Given the description of an element on the screen output the (x, y) to click on. 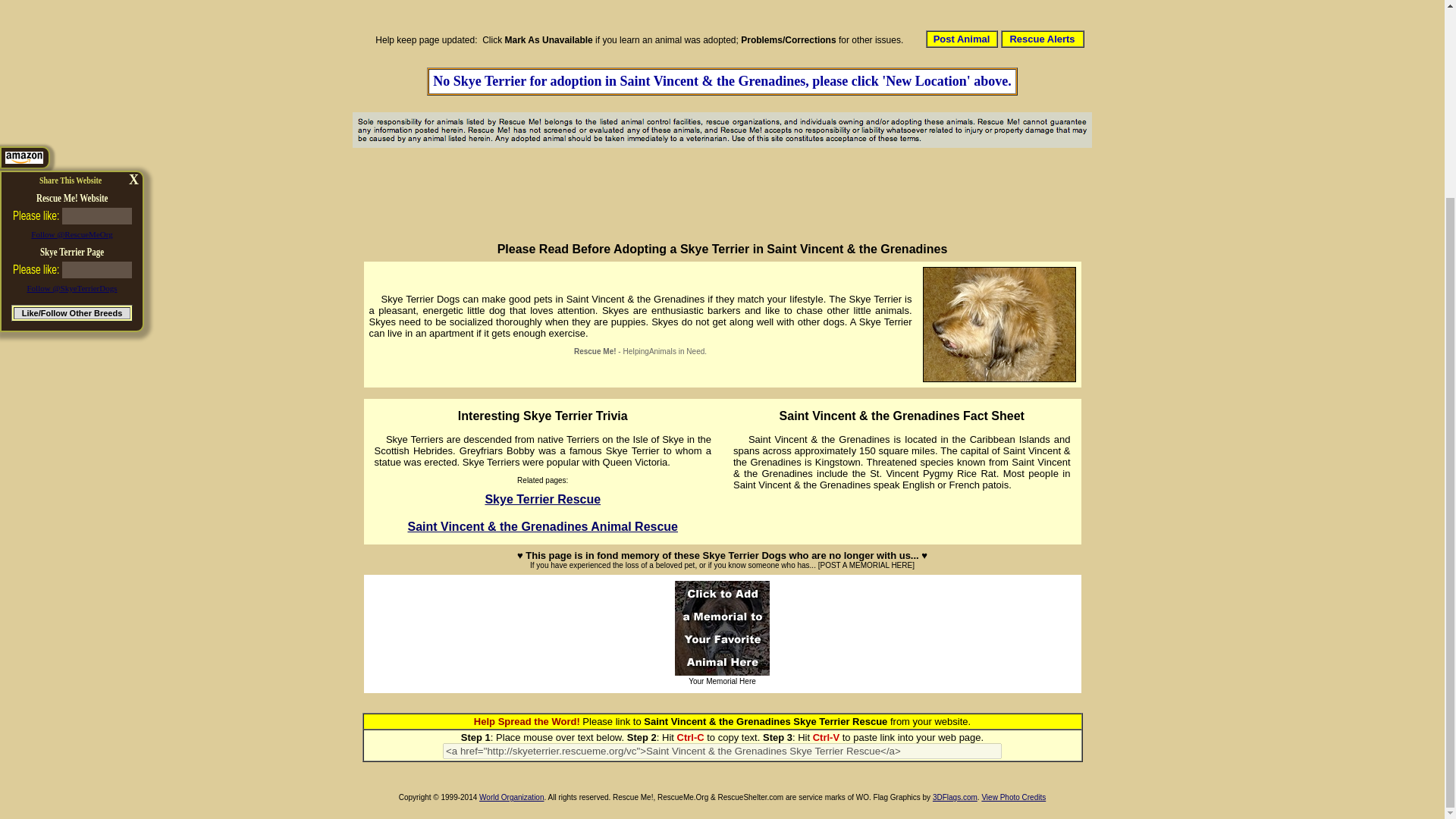
POST A MEMORIAL HERE (865, 565)
3DFlags.com (954, 797)
Skye Terrier Rescue (541, 499)
Advertisement (765, 8)
 Rescue Alerts  (1042, 38)
 Post Animal  (961, 38)
World Organization (511, 797)
Advertisement (722, 192)
View Photo Credits (1013, 797)
